Given the description of an element on the screen output the (x, y) to click on. 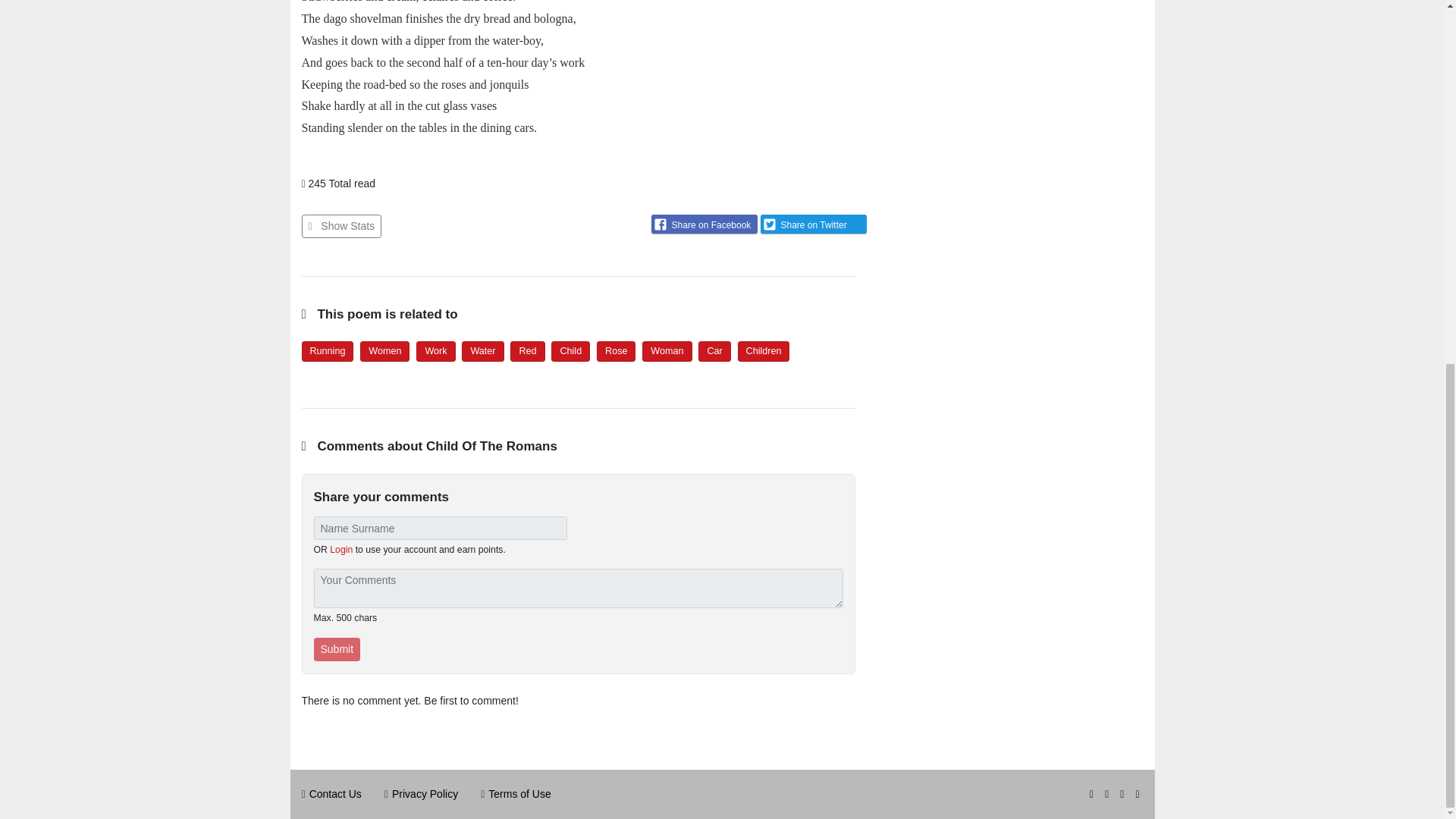
Terms of Use (518, 793)
Child (569, 350)
Red (526, 350)
Share on Twitter (813, 223)
Contact Us (334, 793)
Contact Us (334, 793)
Rose (616, 350)
Submit (337, 649)
Water (482, 350)
Privacy Policy (424, 793)
